Given the description of an element on the screen output the (x, y) to click on. 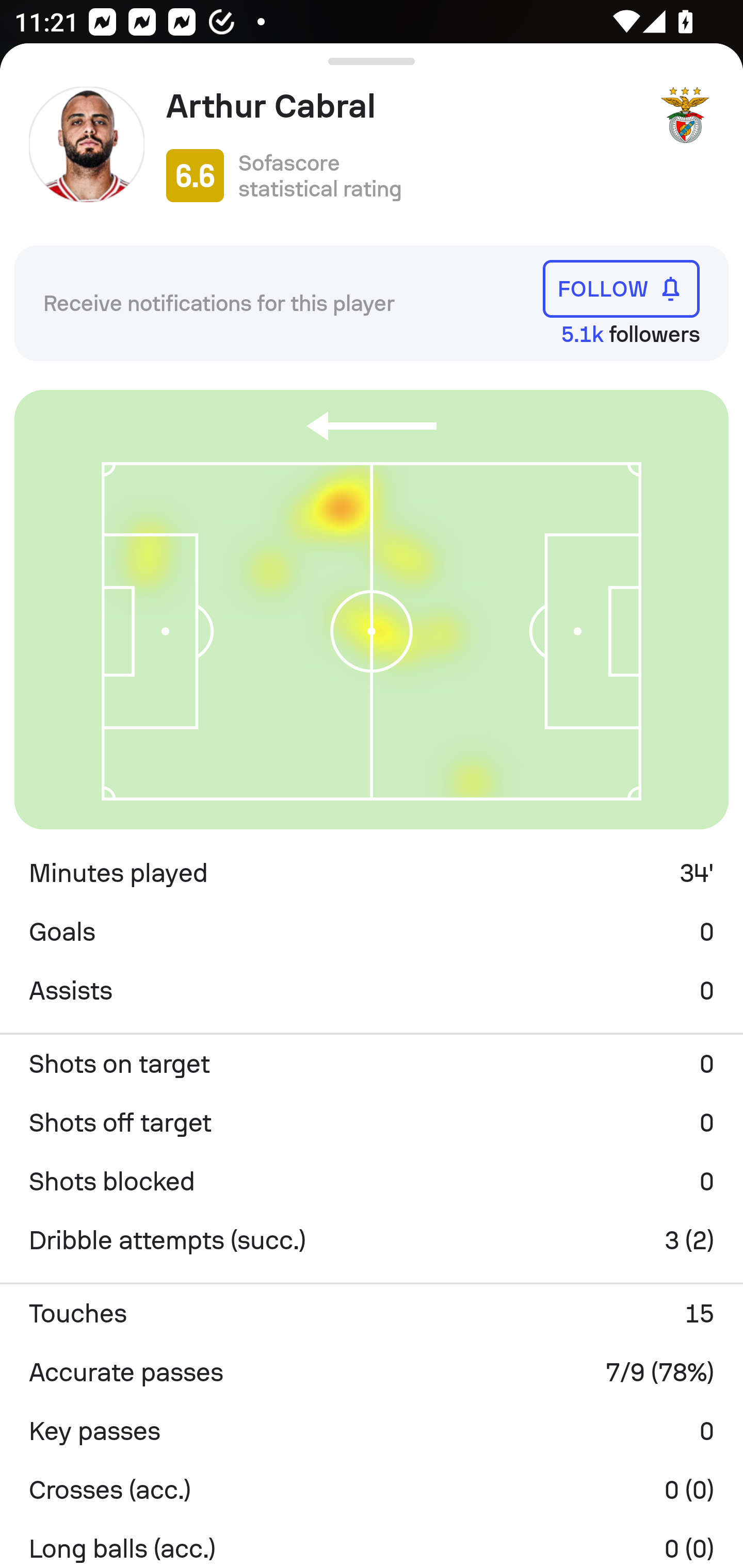
Arthur Cabral (403, 105)
FOLLOW (621, 289)
Minutes played 34' (371, 873)
Goals 0 (371, 932)
Assists 0 (371, 990)
Shots on target 0 (371, 1063)
Shots off target 0 (371, 1122)
Shots blocked 0 (371, 1181)
Dribble attempts (succ.) 3 (2) (371, 1240)
Touches 15 (371, 1313)
Accurate passes 7/9 (78%) (371, 1372)
Key passes 0 (371, 1431)
Crosses (acc.) 0 (0) (371, 1490)
Long balls (acc.) 0 (0) (371, 1543)
